Given the description of an element on the screen output the (x, y) to click on. 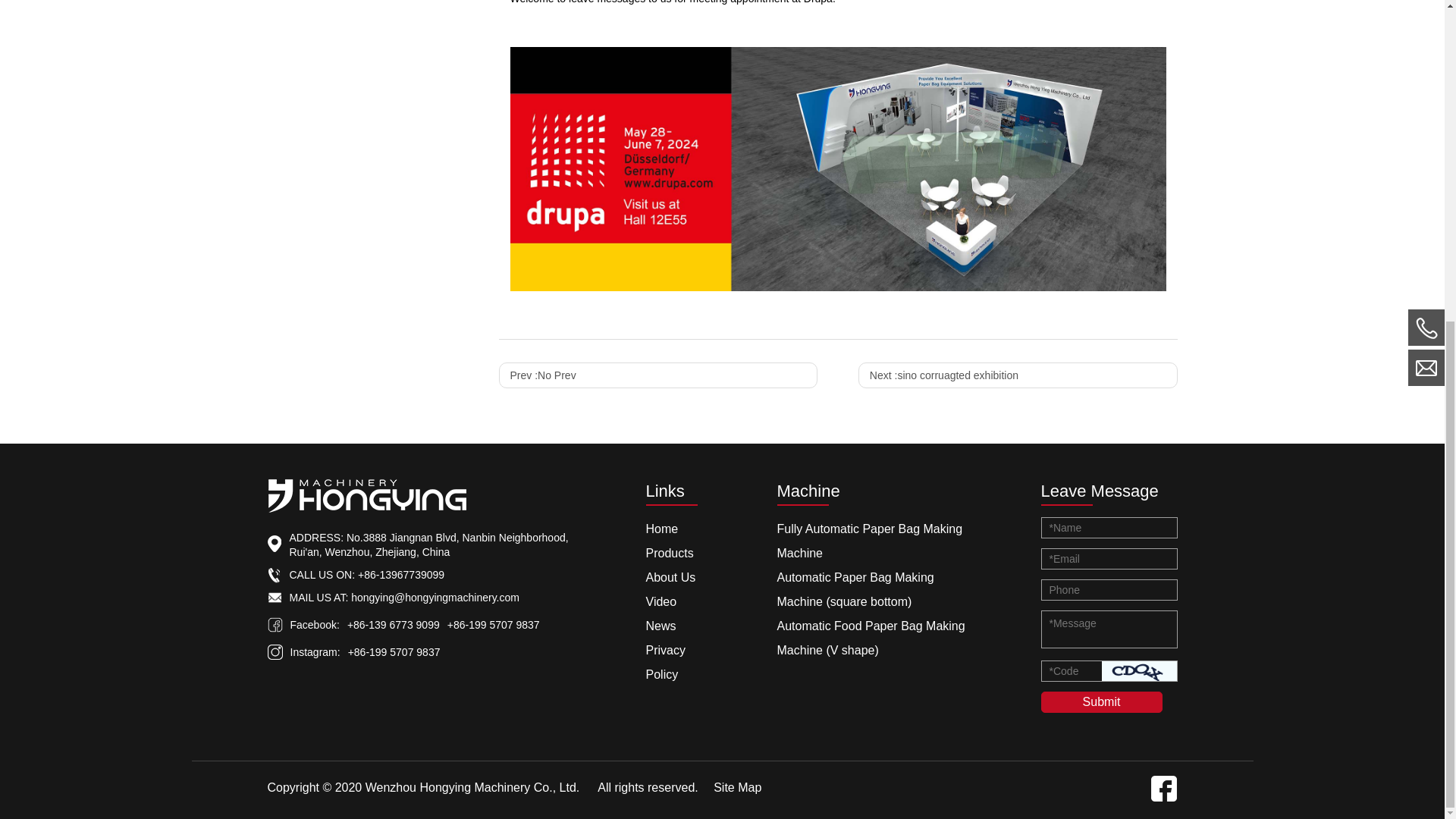
Submit (1101, 701)
About Us (670, 576)
Home (662, 528)
Products (670, 553)
Facebook (1163, 797)
Video (661, 601)
News (661, 625)
Prev :No Prev (658, 375)
Next :sino corruagted exhibition (1018, 375)
